Given the description of an element on the screen output the (x, y) to click on. 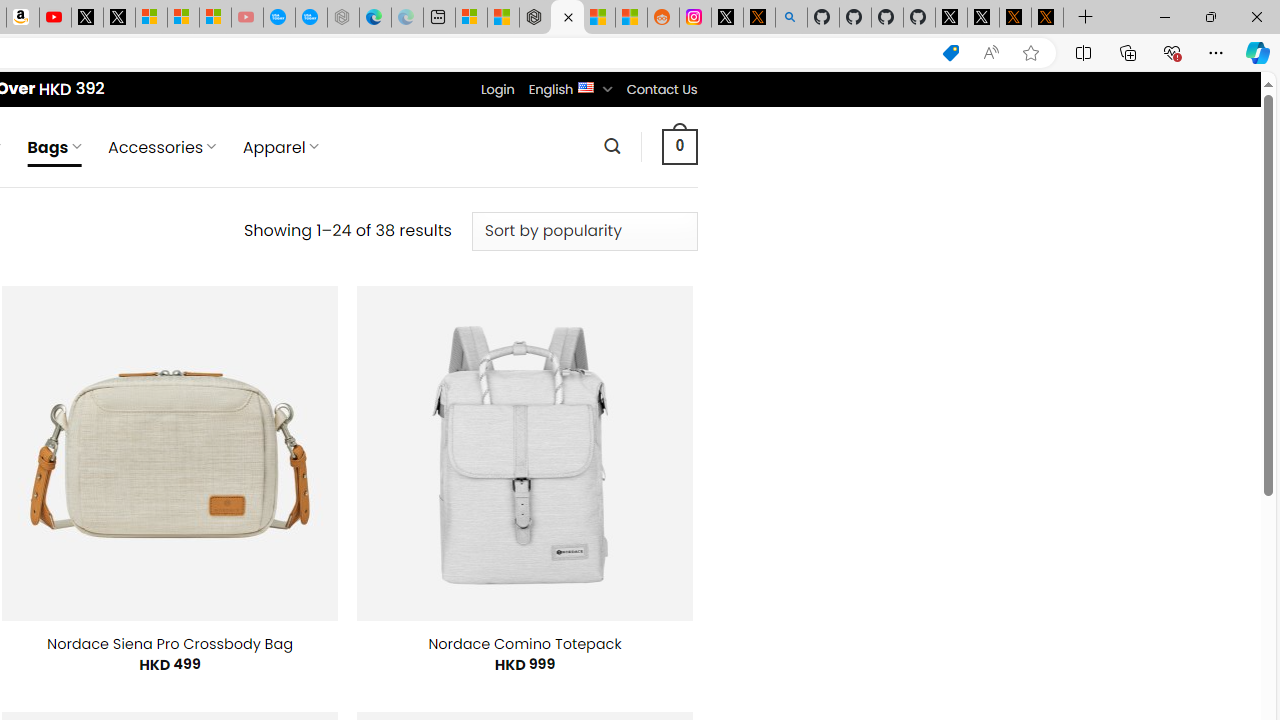
Gloom - YouTube - Sleeping (246, 17)
X (118, 17)
Minimize (1164, 16)
Shop order (584, 231)
Search (612, 146)
Profile / X (950, 17)
GitHub (@github) / X (983, 17)
Collections (1128, 52)
Browser essentials (1171, 52)
Shanghai, China Weather trends | Microsoft Weather (630, 17)
English (586, 86)
